Given the description of an element on the screen output the (x, y) to click on. 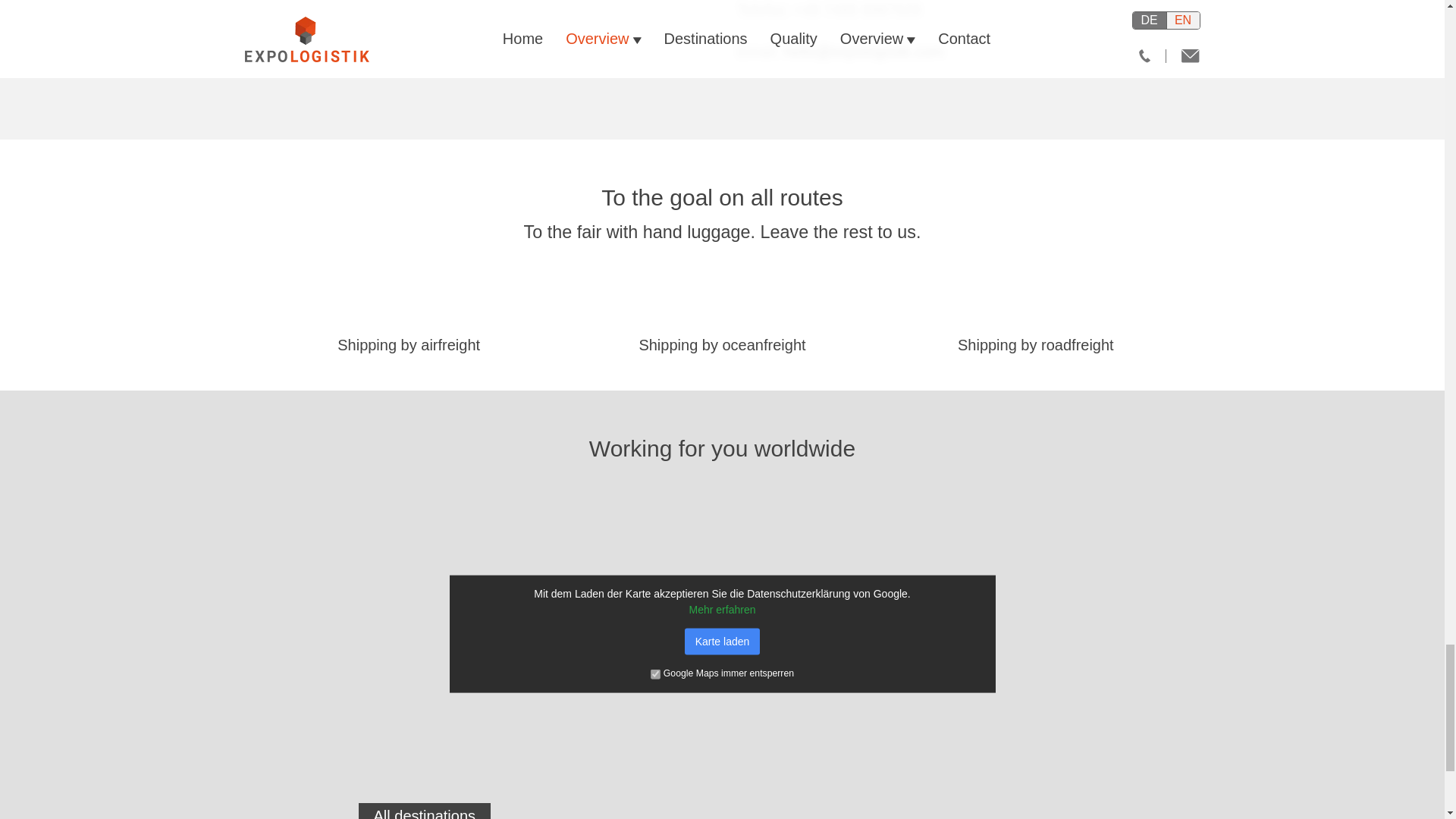
Mehr erfahren (721, 609)
Karte laden (722, 641)
1 (655, 674)
All destinations (424, 811)
